Given the description of an element on the screen output the (x, y) to click on. 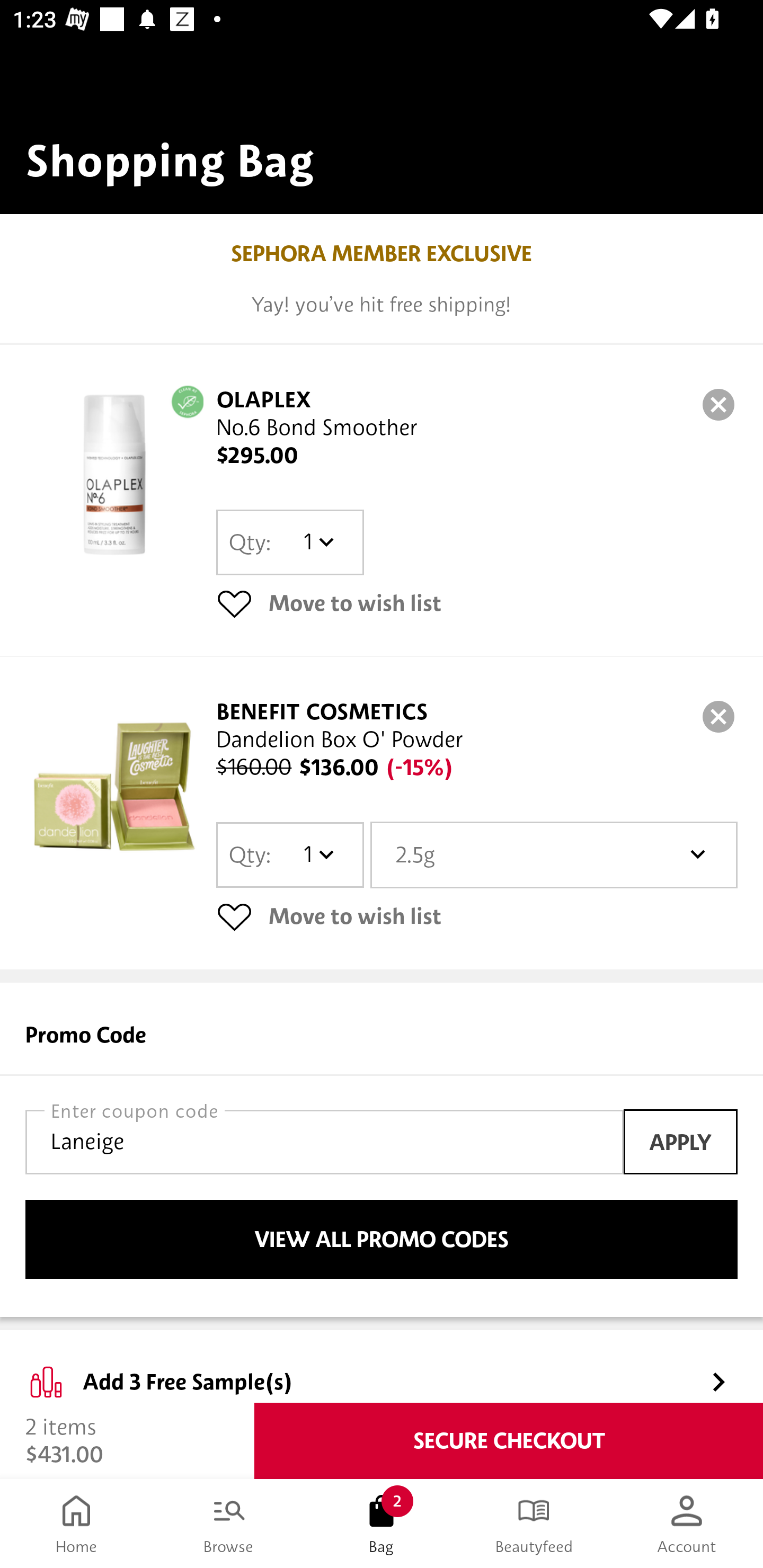
1 (317, 542)
Move to wish list (476, 602)
2.5g (553, 854)
1 (317, 854)
Move to wish list (476, 916)
Promo Code Laneige APPLY VIEW ALL PROMO CODES (381, 1150)
APPLY (680, 1141)
Laneige (324, 1142)
VIEW ALL PROMO CODES (381, 1239)
Add 3 Free Sample(s) (381, 1366)
SECURE CHECKOUT (508, 1440)
Home (76, 1523)
Browse (228, 1523)
Beautyfeed (533, 1523)
Account (686, 1523)
